Given the description of an element on the screen output the (x, y) to click on. 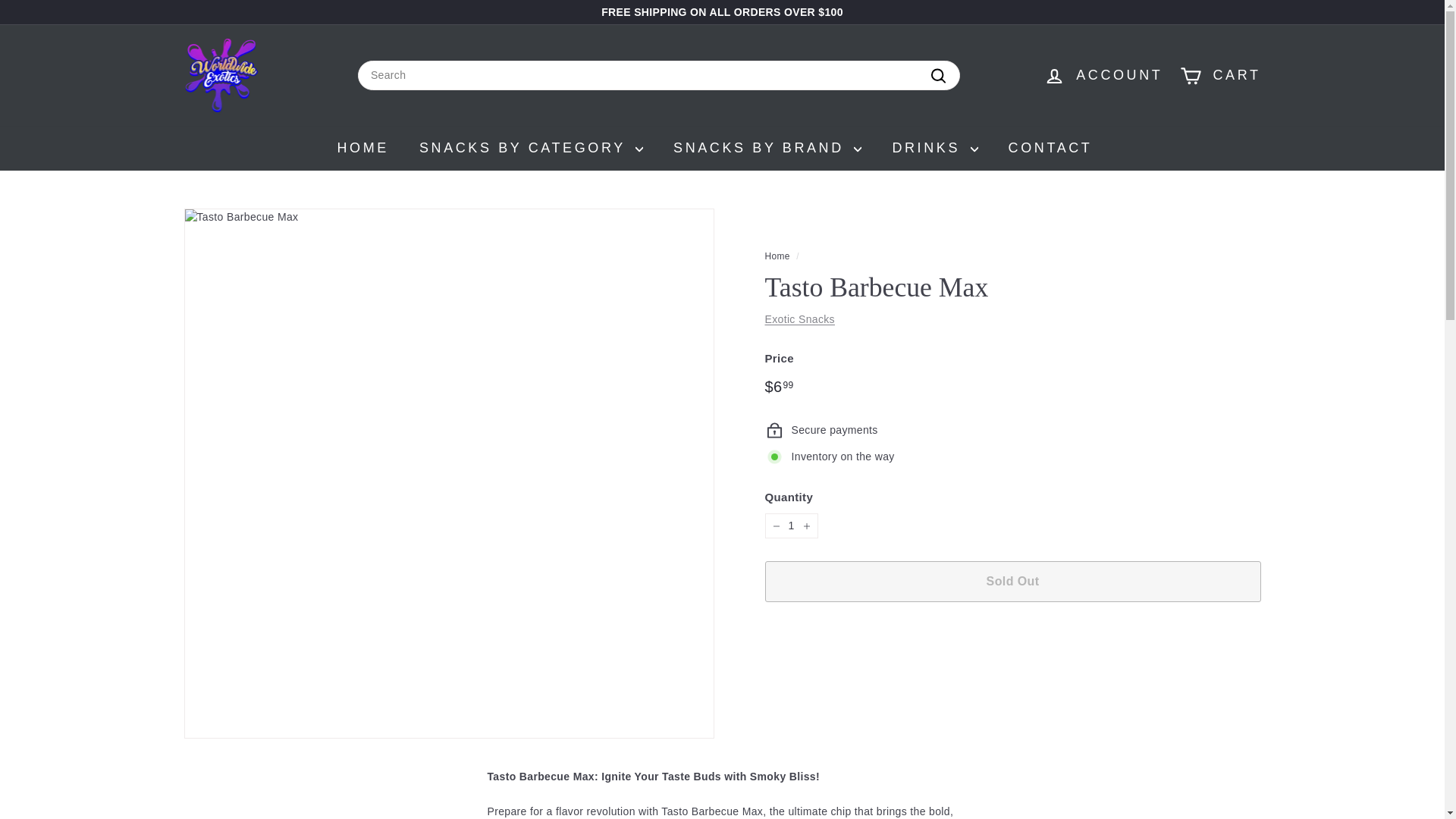
ACCOUNT (1103, 75)
Back to the frontpage (776, 255)
1 (790, 525)
CART (1220, 75)
Exotic Snacks (799, 318)
HOME (362, 148)
